Given the description of an element on the screen output the (x, y) to click on. 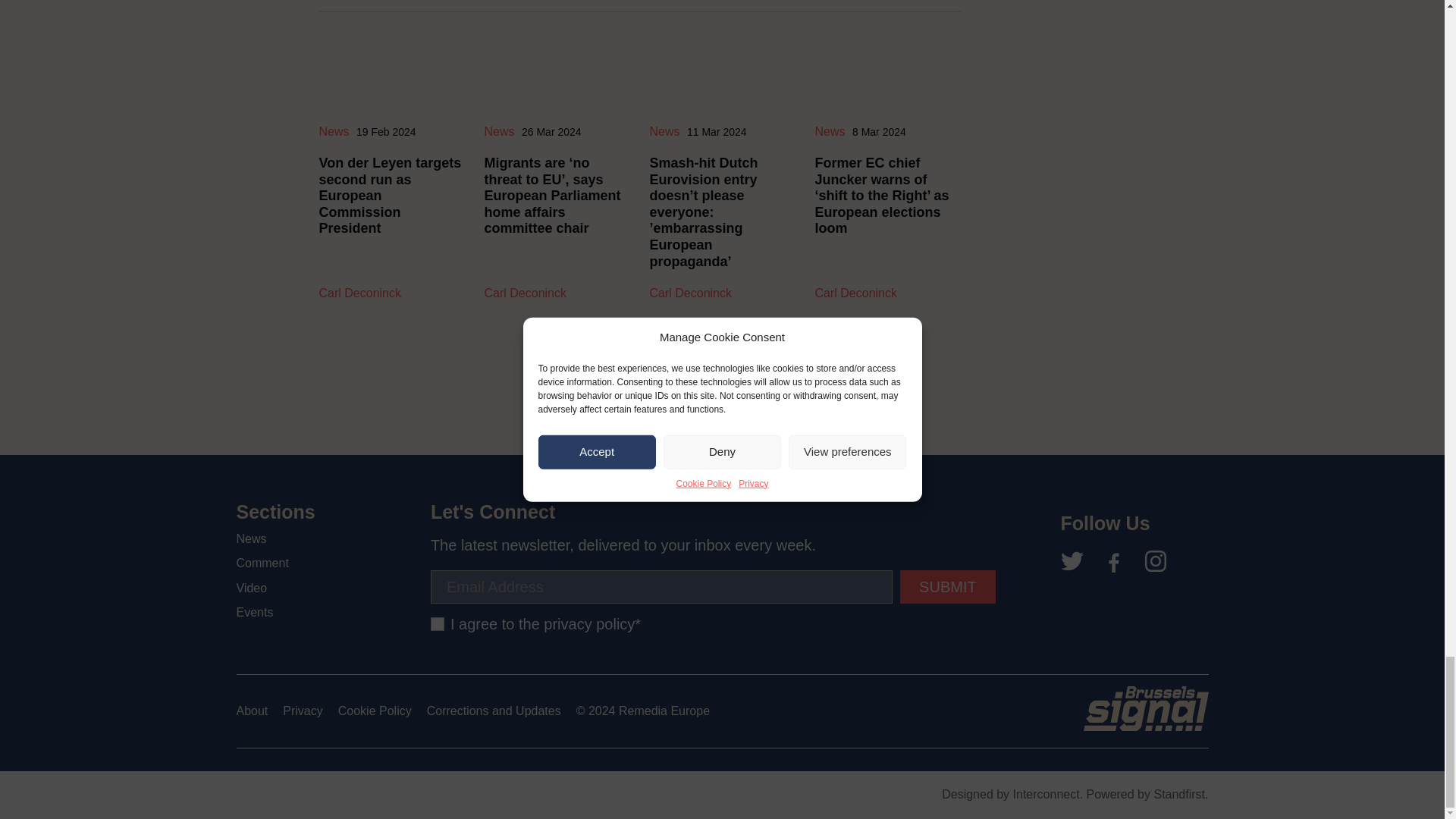
I agree to the privacy policy (437, 623)
